Given the description of an element on the screen output the (x, y) to click on. 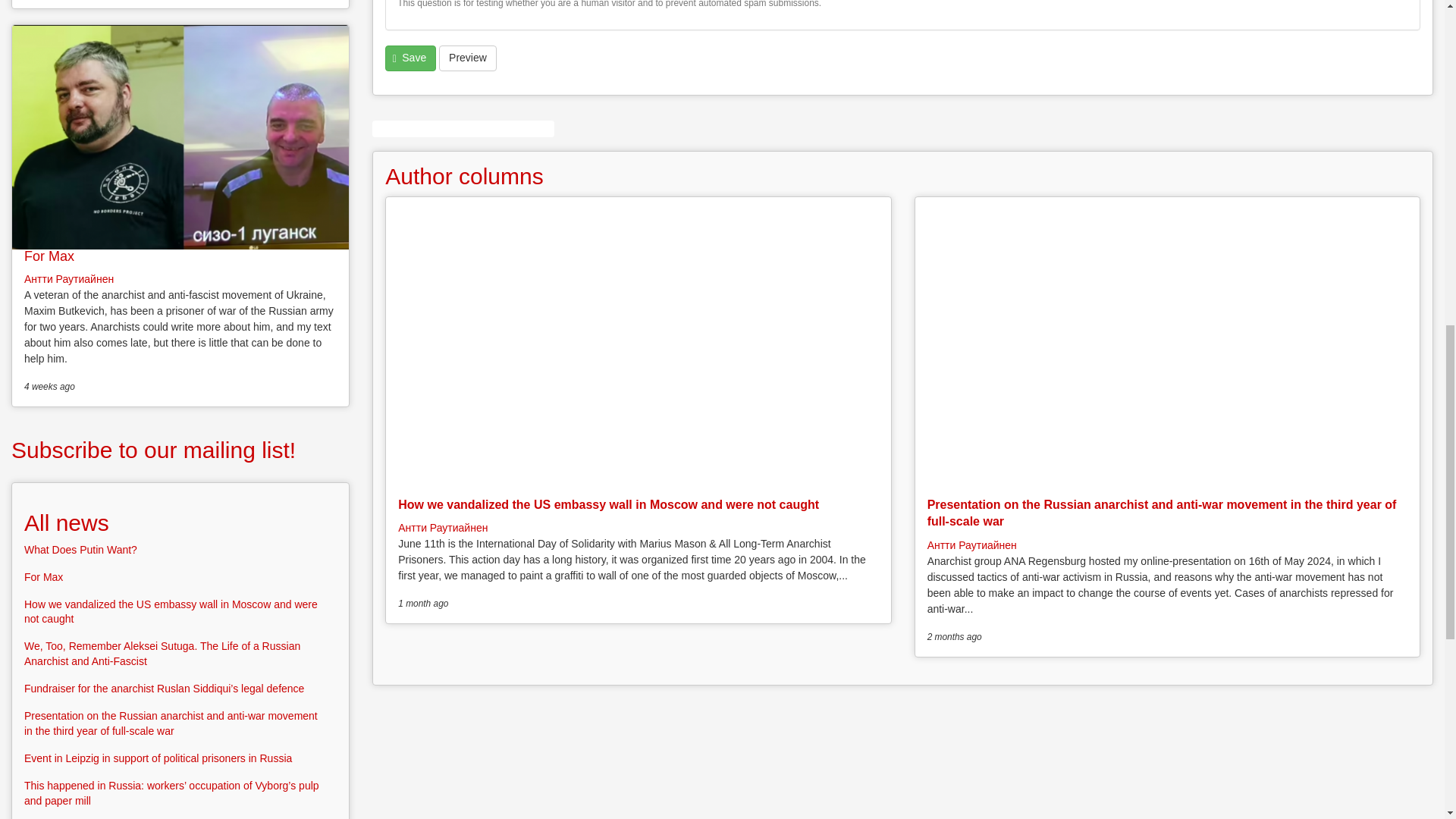
Preview (467, 58)
Save (410, 58)
Author columns (464, 176)
